Given the description of an element on the screen output the (x, y) to click on. 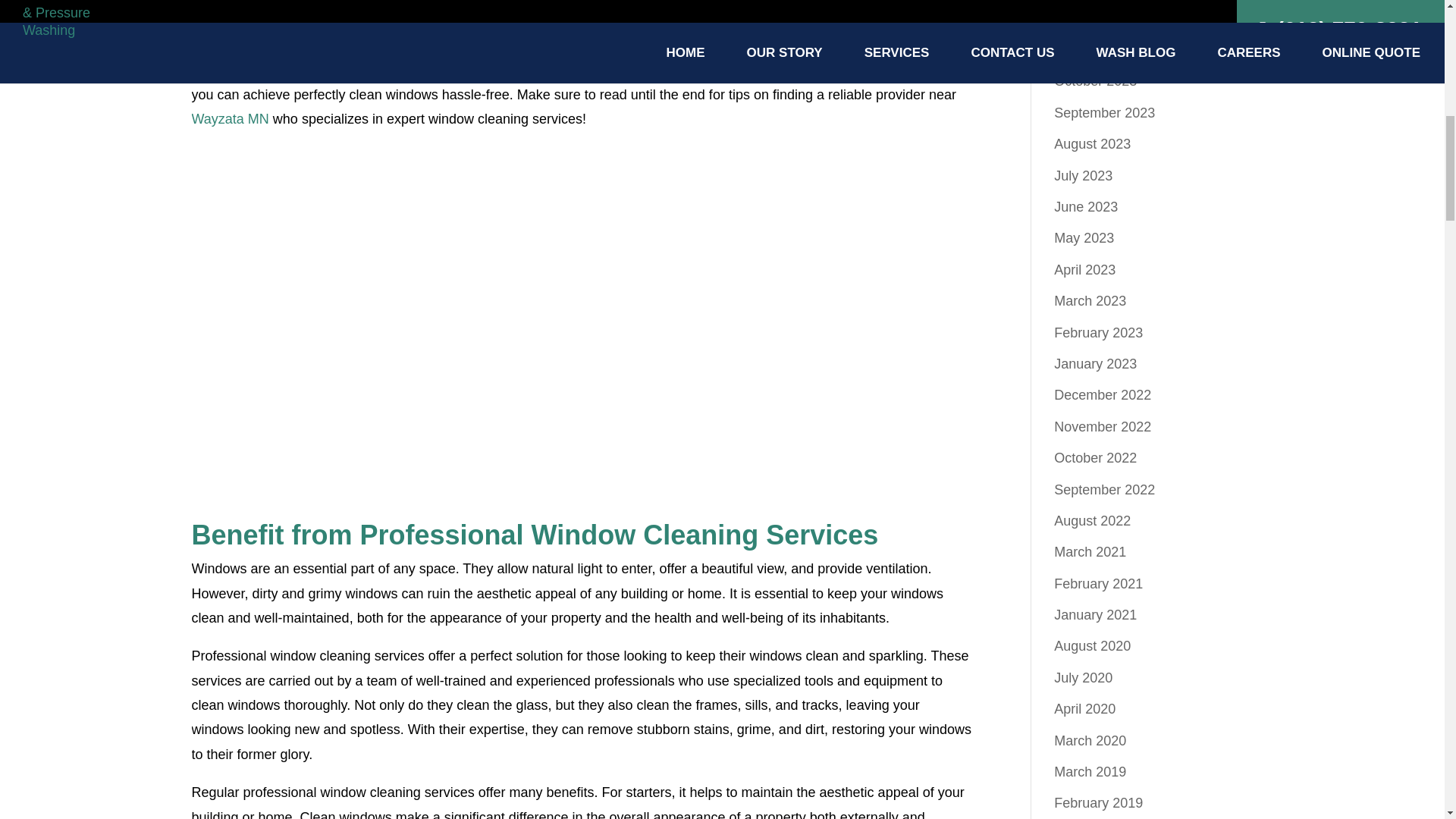
Wayzata MN (228, 118)
